Given the description of an element on the screen output the (x, y) to click on. 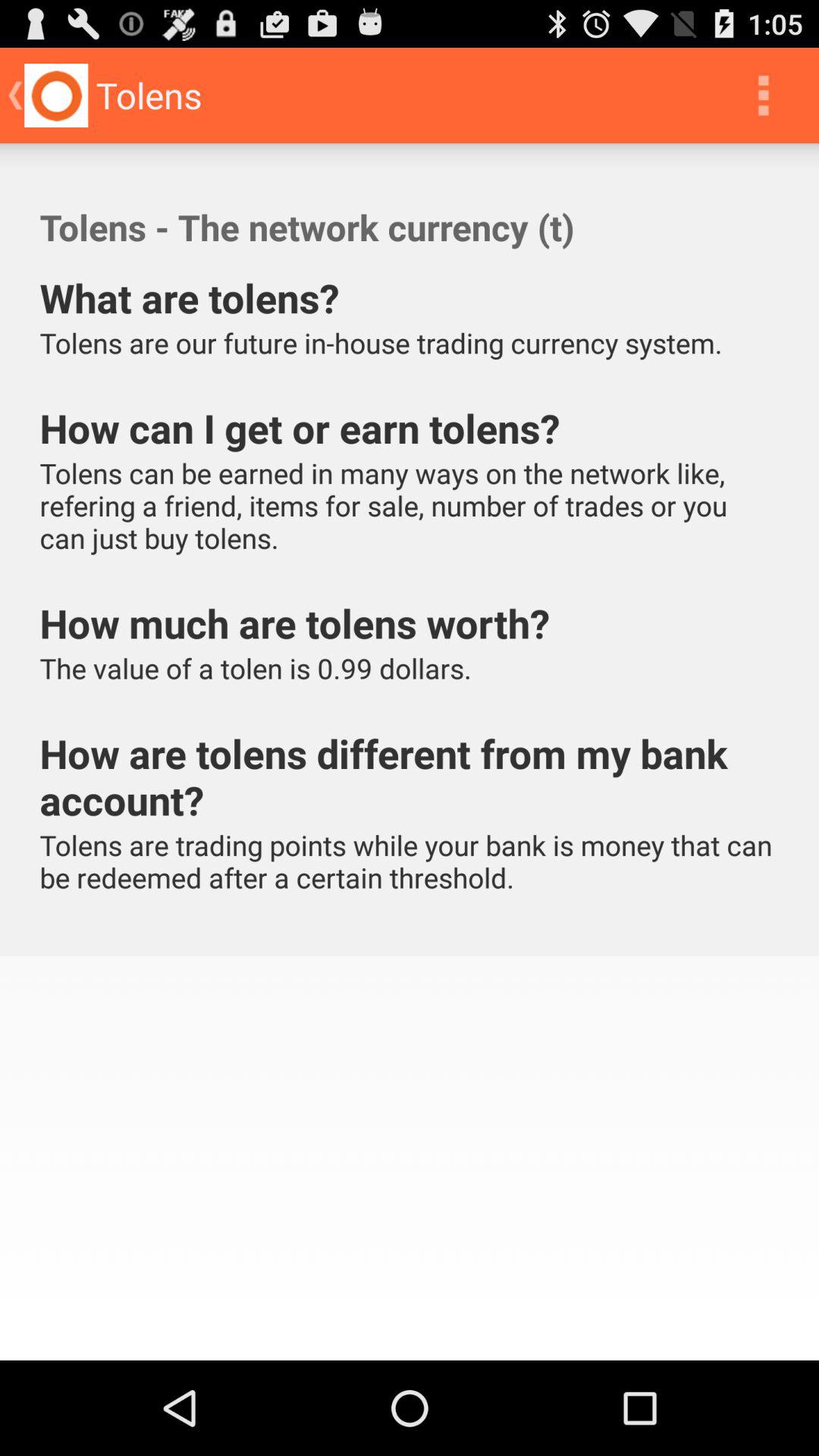
select the app above tolens are our (763, 95)
